Given the description of an element on the screen output the (x, y) to click on. 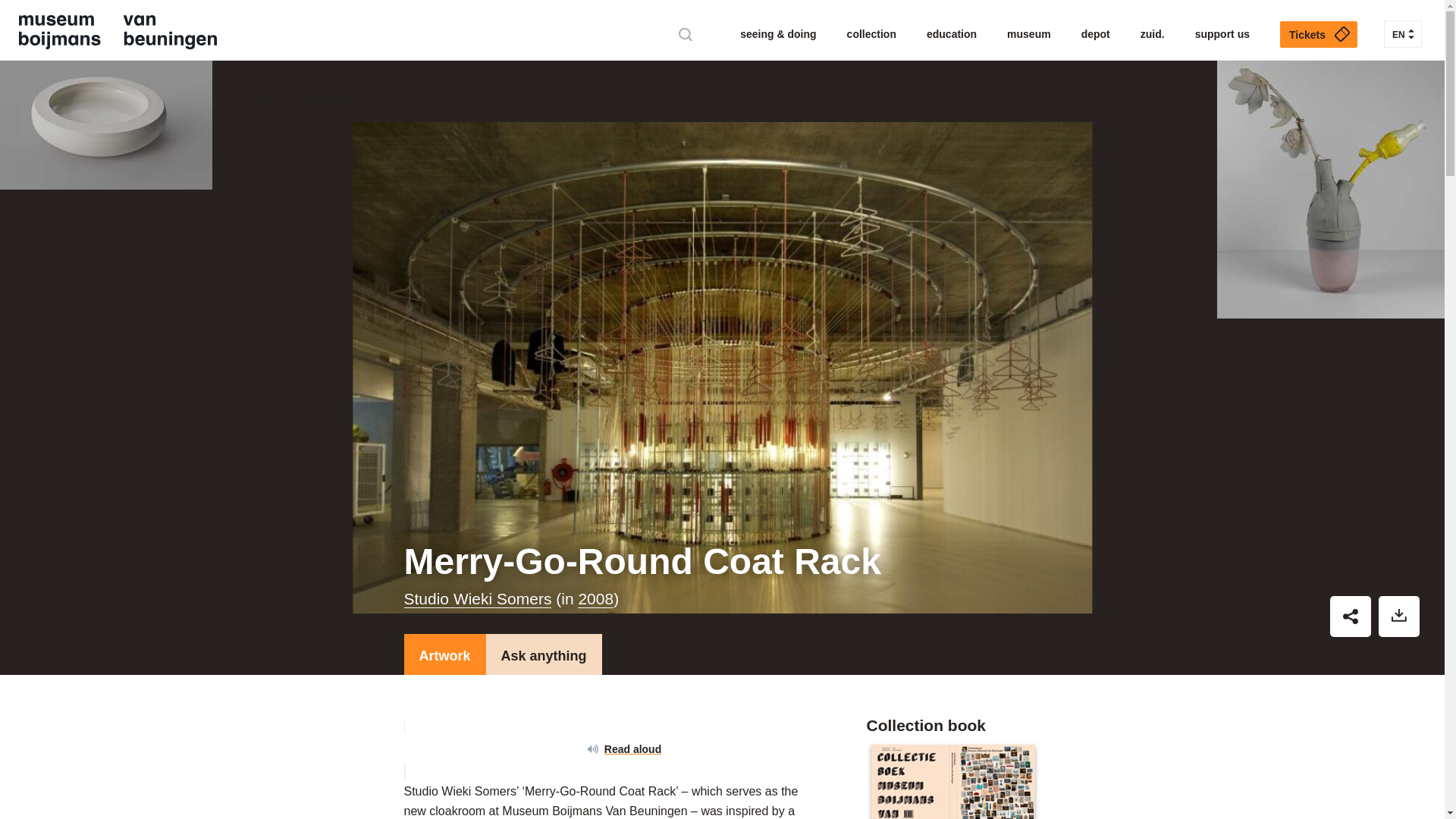
museum (1029, 34)
Listen to this page using ReadSpeaker (609, 748)
share (1350, 616)
collection (871, 34)
download (1398, 616)
education (951, 34)
